Given the description of an element on the screen output the (x, y) to click on. 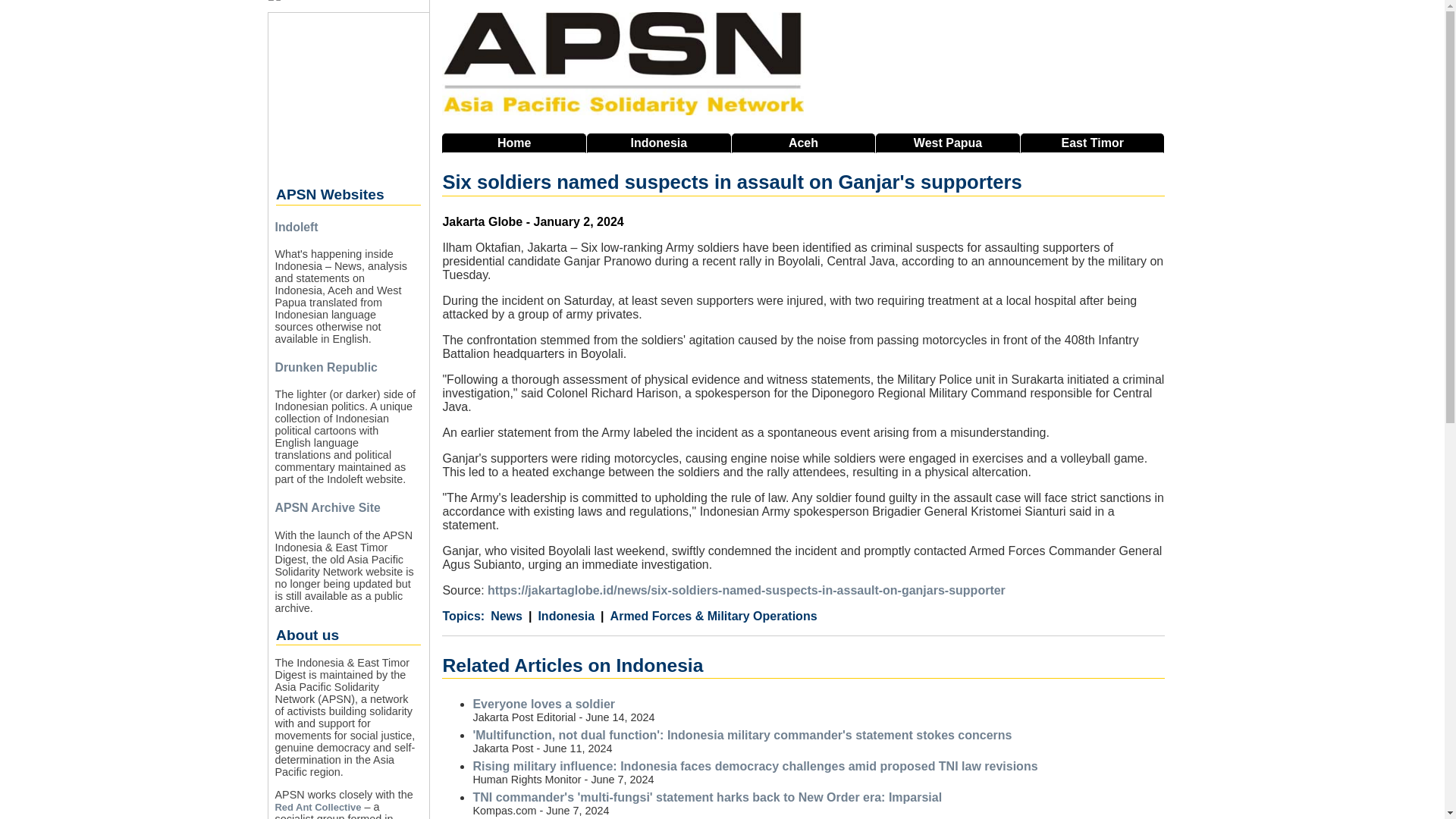
East Timor (1092, 143)
Drunken Republic (326, 367)
Everyone loves a soldier (542, 703)
Indonesia (561, 616)
West Papua (948, 143)
News (506, 616)
Home (514, 143)
Aceh (804, 143)
Indonesia (658, 143)
Indoleft (296, 226)
